Given the description of an element on the screen output the (x, y) to click on. 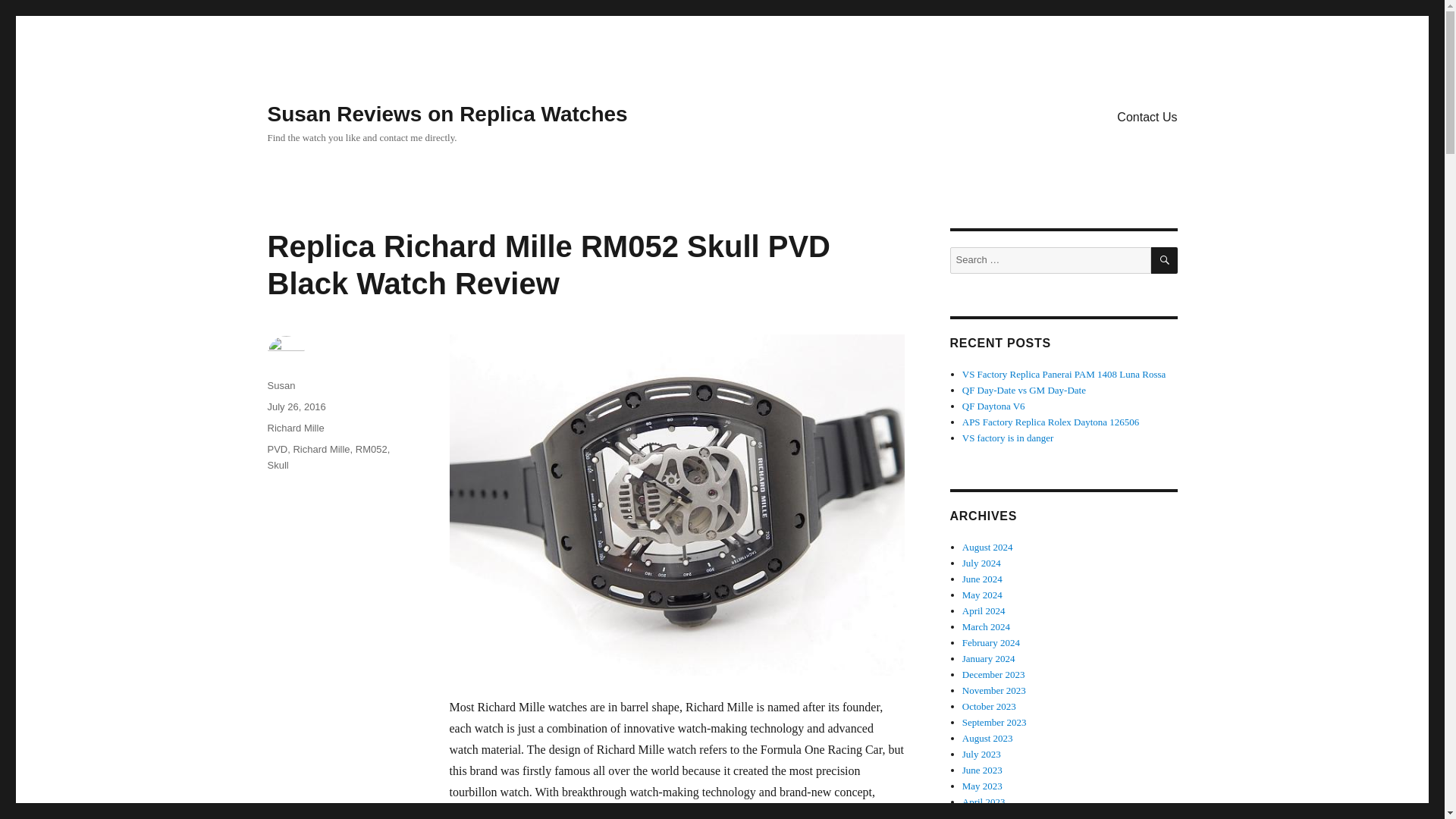
Richard Mille (294, 428)
July 2024 (981, 562)
Richard Mille (320, 449)
APS Factory Replica Rolex Daytona 126506 (1051, 421)
VS Factory Replica Panerai PAM 1408 Luna Rossa (1064, 374)
Susan Reviews on Replica Watches (446, 114)
October 2023 (989, 706)
August 2023 (987, 737)
January 2024 (988, 658)
July 26, 2016 (295, 406)
